Given the description of an element on the screen output the (x, y) to click on. 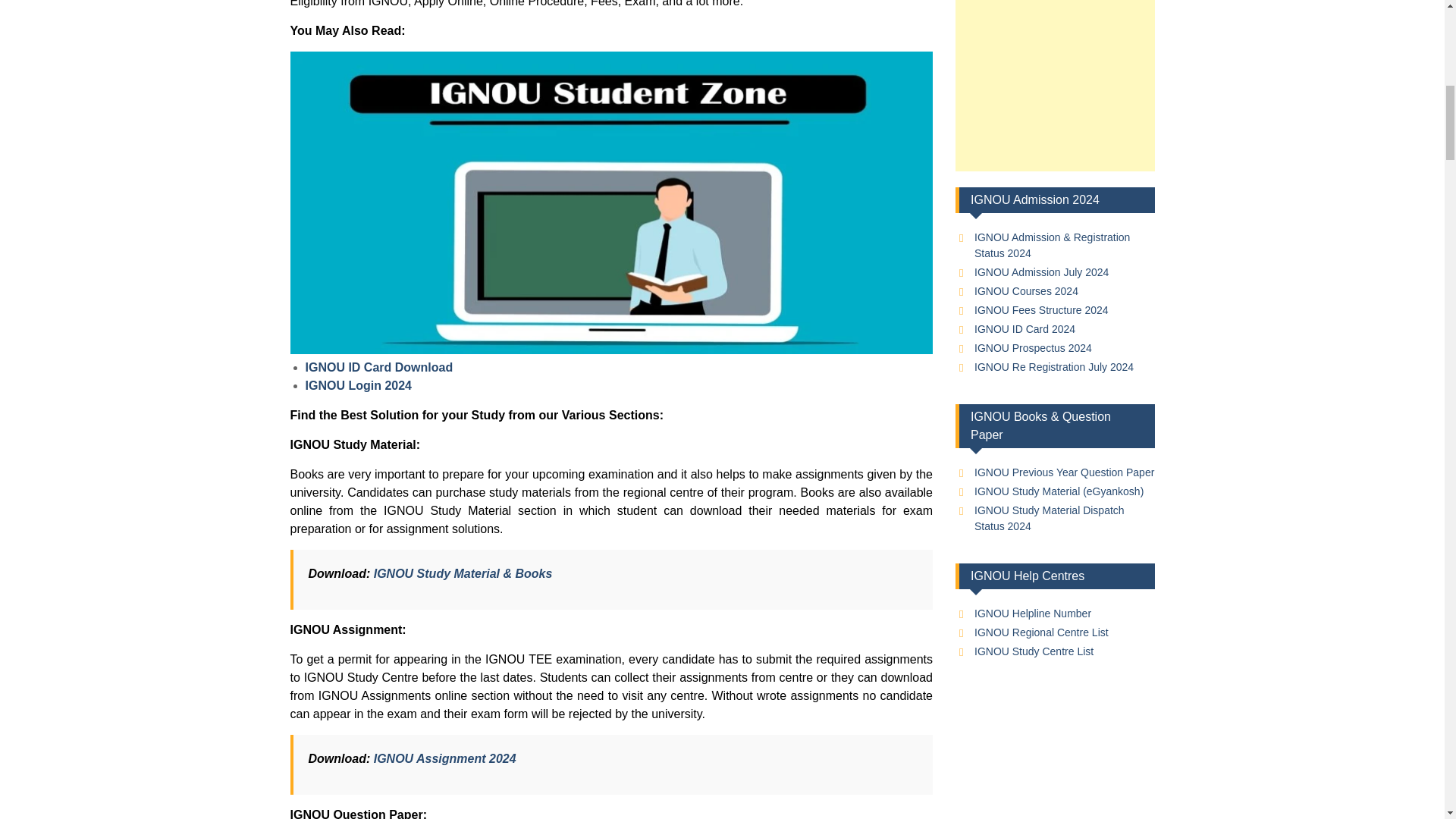
IGNOU ID Card Download (378, 367)
IGNOU Login 2024 (357, 385)
Advertisement (1054, 85)
IGNOU Assignment 2024 (445, 758)
